Given the description of an element on the screen output the (x, y) to click on. 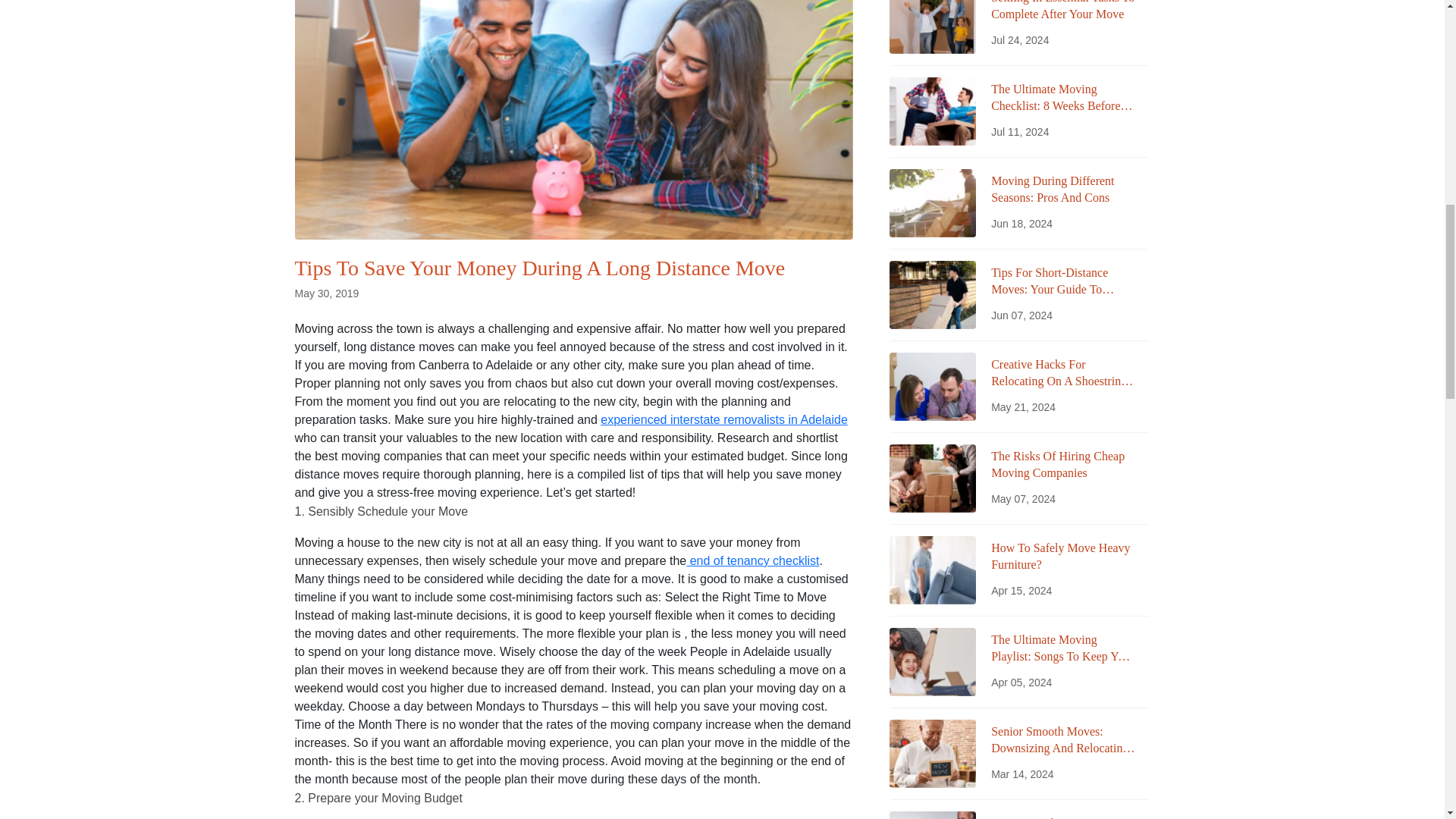
How To Safely Move Heavy Furniture? (1062, 556)
The Risks Of Hiring Cheap Moving Companies (1062, 464)
experienced interstate removalists in Adelaide (723, 419)
Creative Hacks For Relocating On A Shoestring Budget (1062, 373)
The Ultimate Moving Checklist: 8 Weeks Before Move-In Day (1062, 98)
end of tenancy checklist (751, 560)
Tips For Short-Distance Moves: Your Guide To Moving Locally (1062, 281)
Moving During Different Seasons: Pros And Cons (1062, 189)
Settling In Essential Tasks To Complete After Your Move (1062, 11)
